Given the description of an element on the screen output the (x, y) to click on. 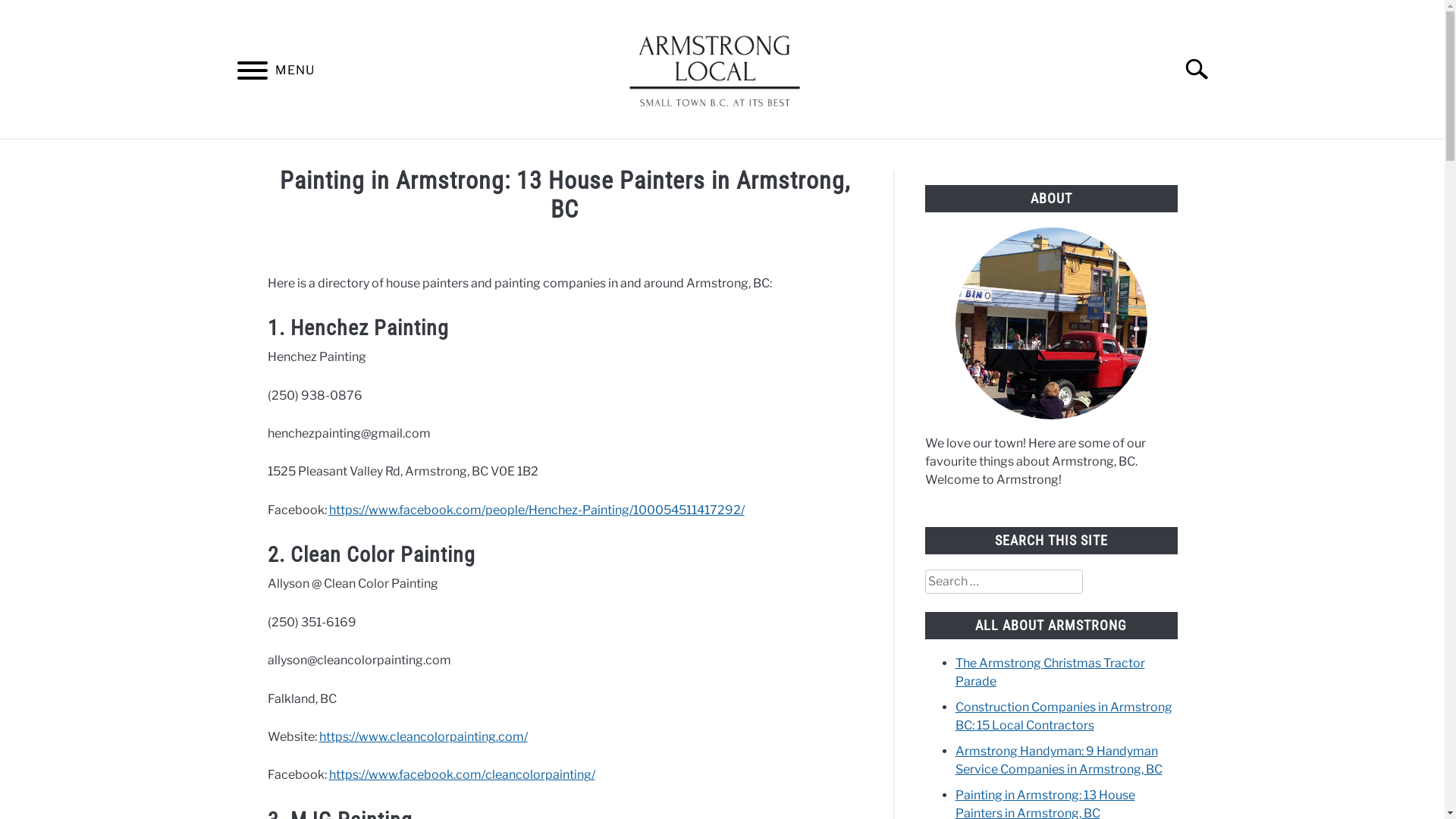
Construction Companies in Armstrong BC: 15 Local Contractors Element type: text (1063, 715)
MENU Element type: text (251, 73)
Search Element type: text (1203, 68)
https://www.cleancolorpainting.com/ Element type: text (422, 736)
https://www.facebook.com/cleancolorpainting/ Element type: text (462, 774)
The Armstrong Christmas Tractor Parade Element type: text (1050, 671)
